Given the description of an element on the screen output the (x, y) to click on. 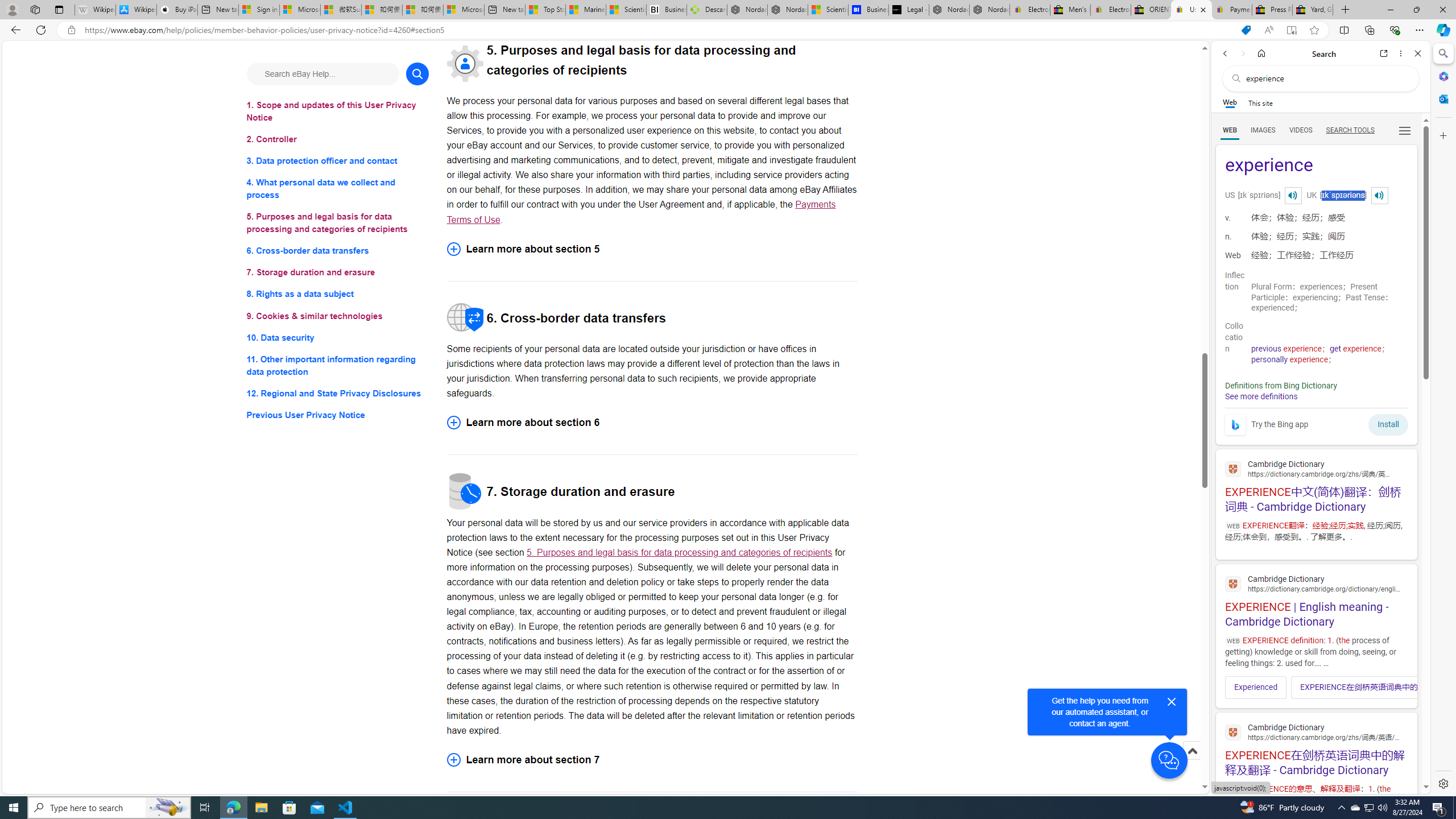
11. Other important information regarding data protection (337, 365)
9. Cookies & similar technologies (337, 315)
12. Regional and State Privacy Disclosures (337, 392)
7. Storage duration and erasure (337, 272)
9. Cookies & similar technologies (337, 315)
